Given the description of an element on the screen output the (x, y) to click on. 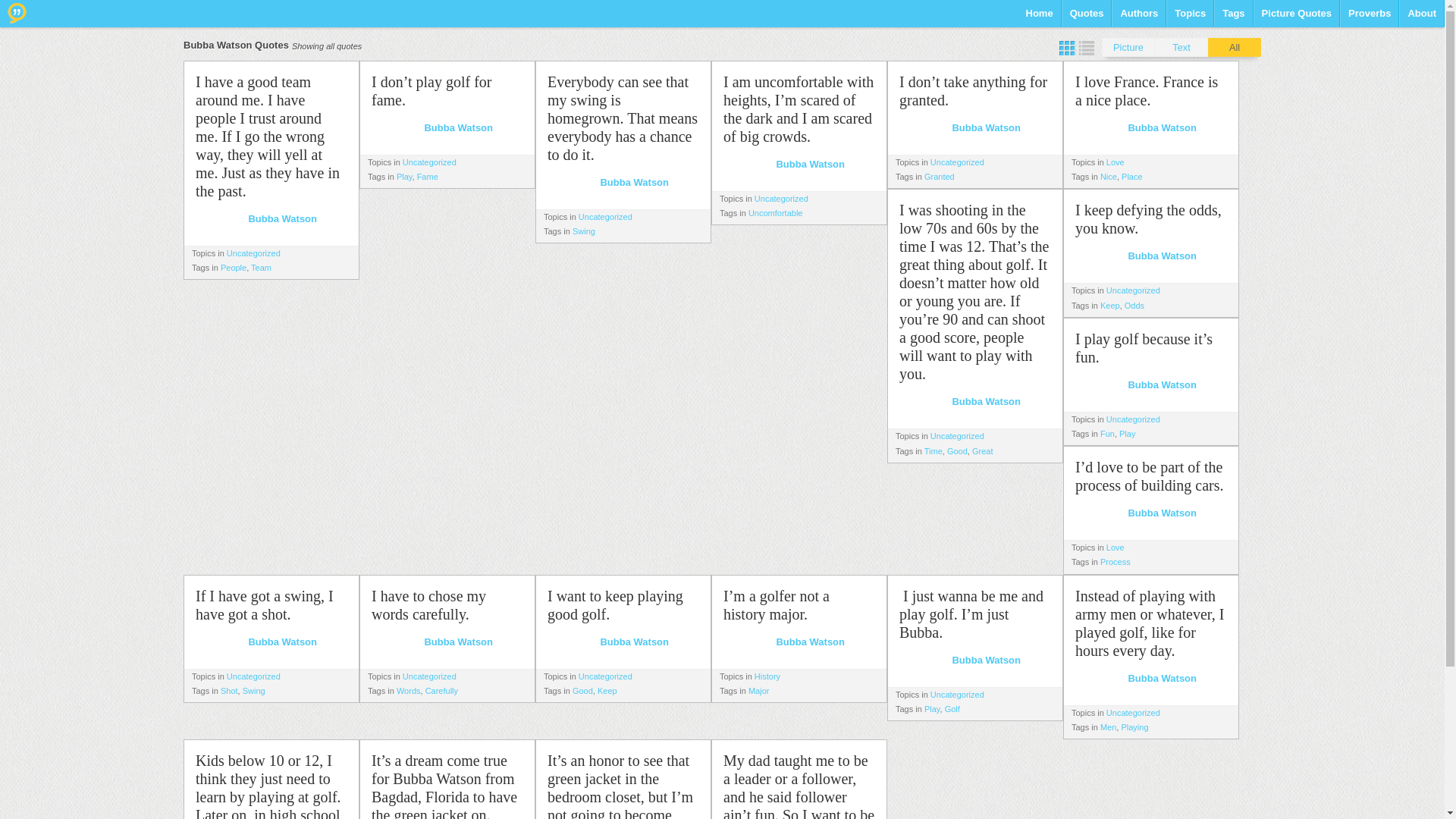
Quotes (1086, 18)
Go to Home (16, 13)
Home (1039, 18)
Quotes (1086, 18)
Home (1039, 18)
Browse by Authors (1138, 18)
Topics (1189, 18)
Authors (1138, 18)
